Given the description of an element on the screen output the (x, y) to click on. 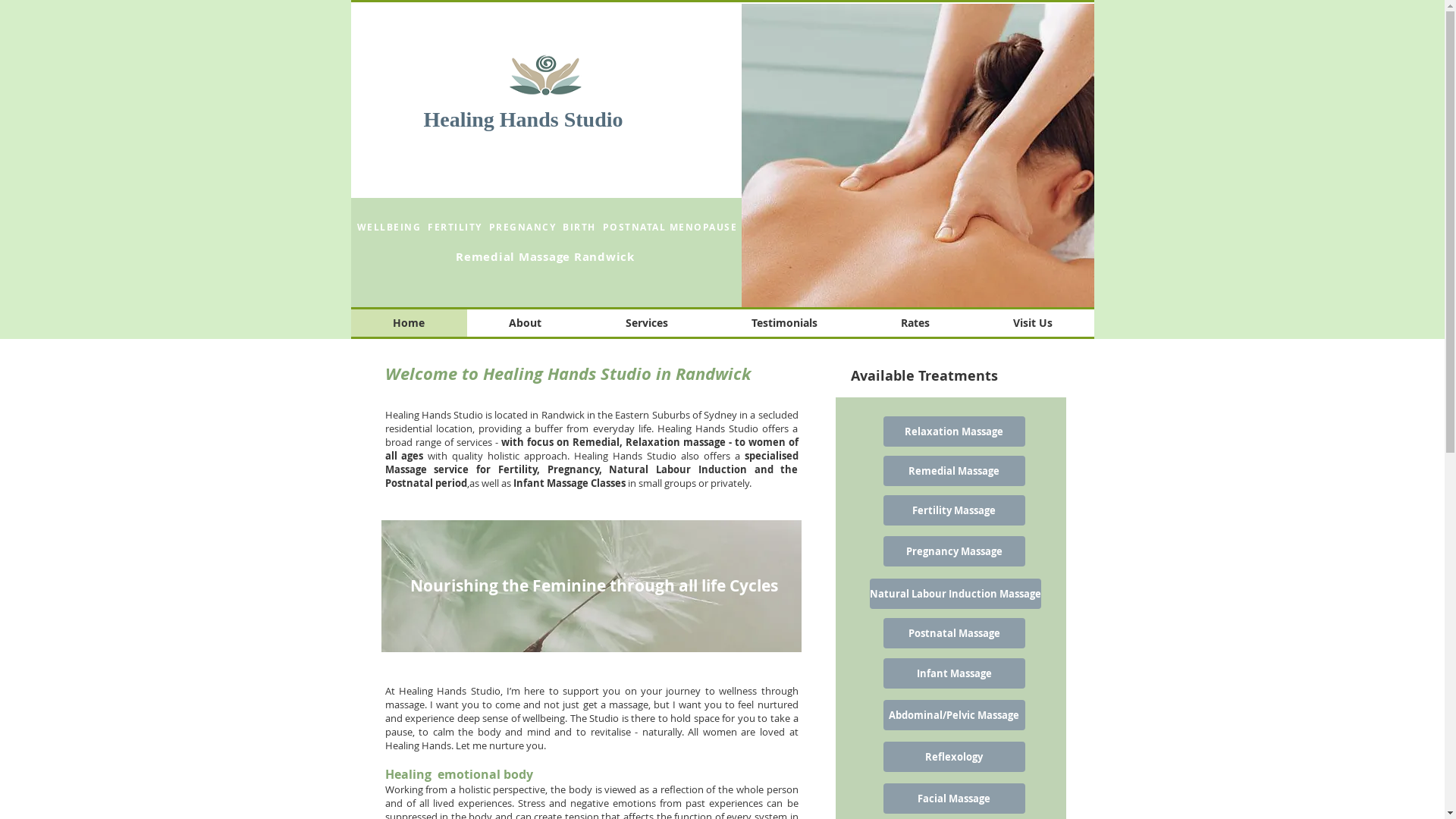
Home Element type: text (408, 322)
Rates Element type: text (914, 322)
Relaxation Massage Element type: text (953, 431)
index.png Element type: hover (545, 75)
About Element type: text (525, 322)
Healing Hands Studio Element type: text (522, 119)
Remedial Massage Element type: text (953, 470)
Nurture the feminine Element type: hover (590, 586)
Visit Us Element type: text (1031, 322)
Abdominal/Pelvic Massage Element type: text (953, 714)
Reflexology Element type: text (953, 756)
Postnatal Massage Element type: text (953, 633)
Services Element type: text (646, 322)
Infant Massage Element type: text (953, 673)
Facial Massage Element type: text (953, 798)
Testimonials Element type: text (784, 322)
Fertility Massage Element type: text (953, 510)
Pregnancy Massage Element type: text (953, 551)
Natural Labour Induction Massage Element type: text (954, 593)
